Given the description of an element on the screen output the (x, y) to click on. 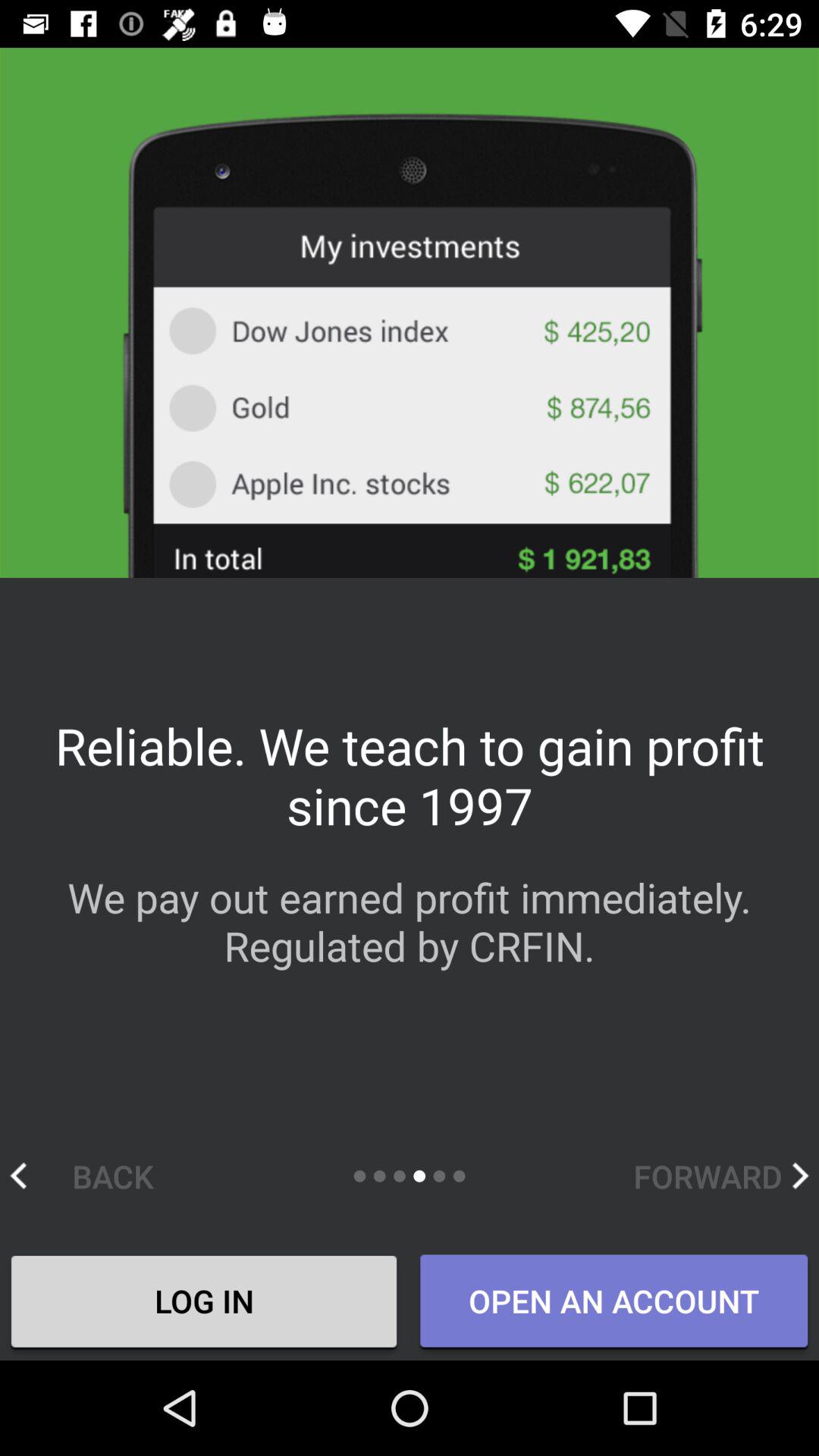
turn on icon to the left of open an account (204, 1303)
